Given the description of an element on the screen output the (x, y) to click on. 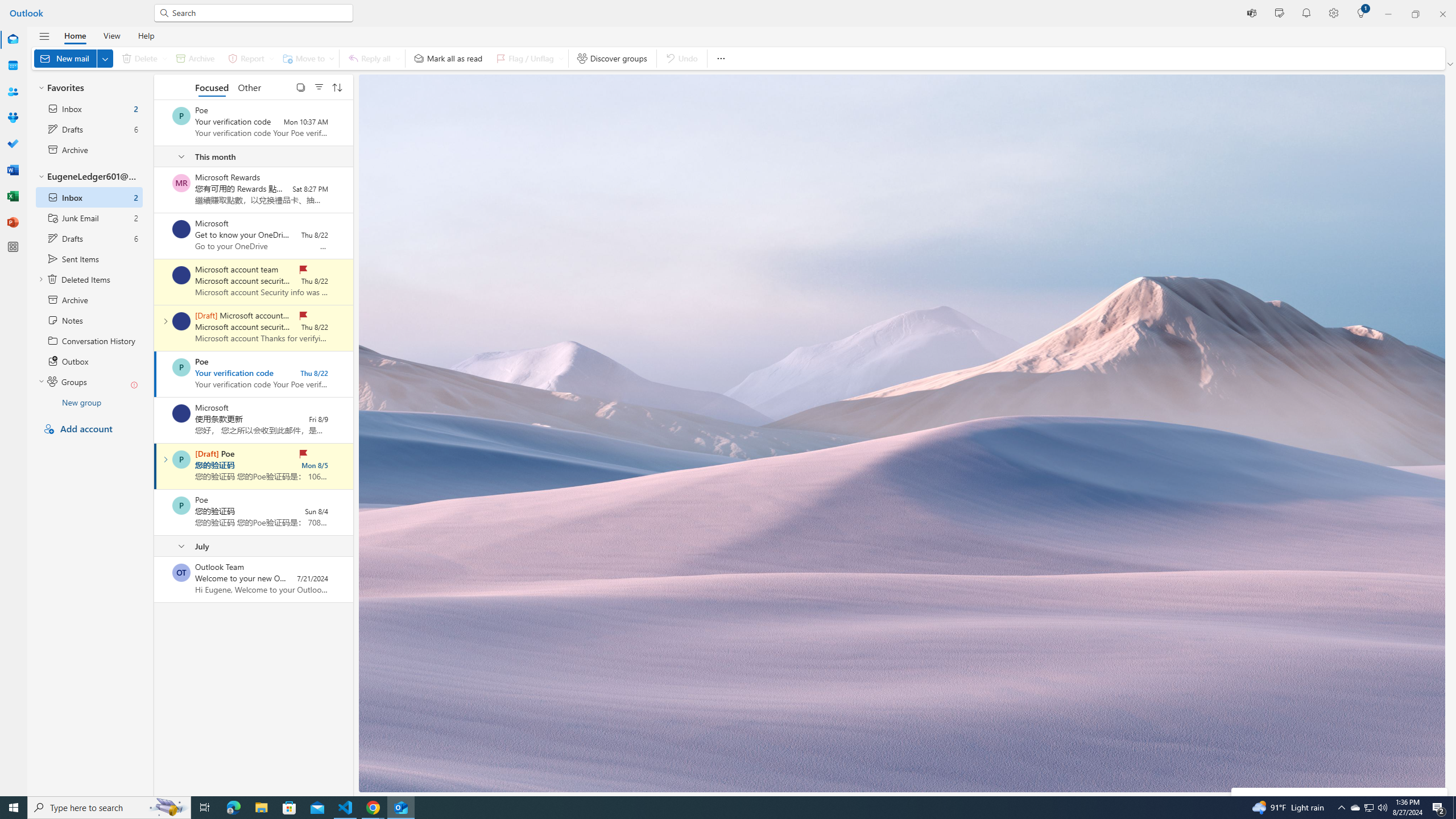
Word (12, 169)
Home (74, 35)
Archive (194, 58)
Word (12, 170)
Poe (180, 505)
To Do (12, 143)
Focused (212, 86)
Microsoft account team (180, 321)
Hide navigation pane (44, 36)
More options (720, 58)
Help (146, 35)
Microsoft (180, 413)
